Given the description of an element on the screen output the (x, y) to click on. 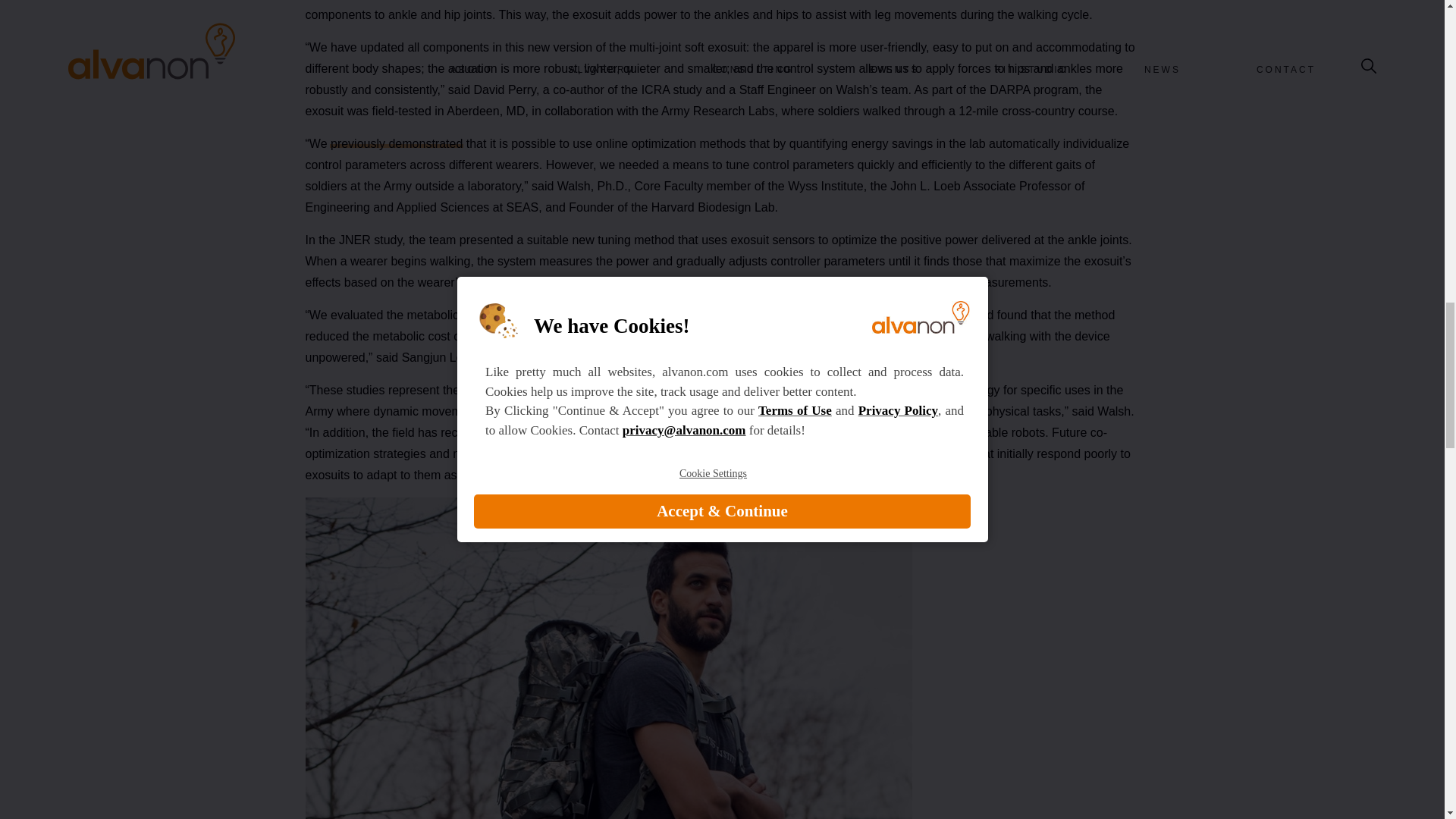
previously demonstrated (396, 143)
